Given the description of an element on the screen output the (x, y) to click on. 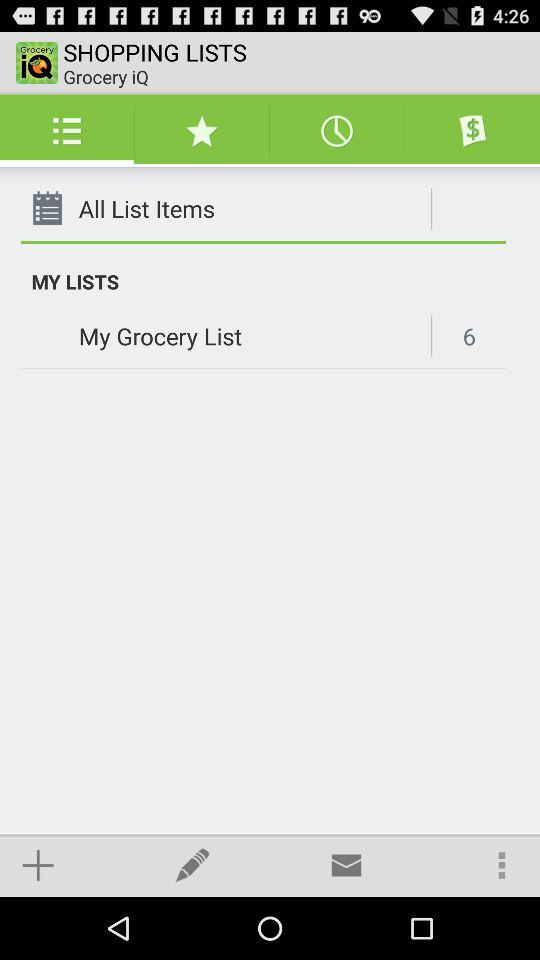
turn on icon at the bottom right corner (501, 864)
